Given the description of an element on the screen output the (x, y) to click on. 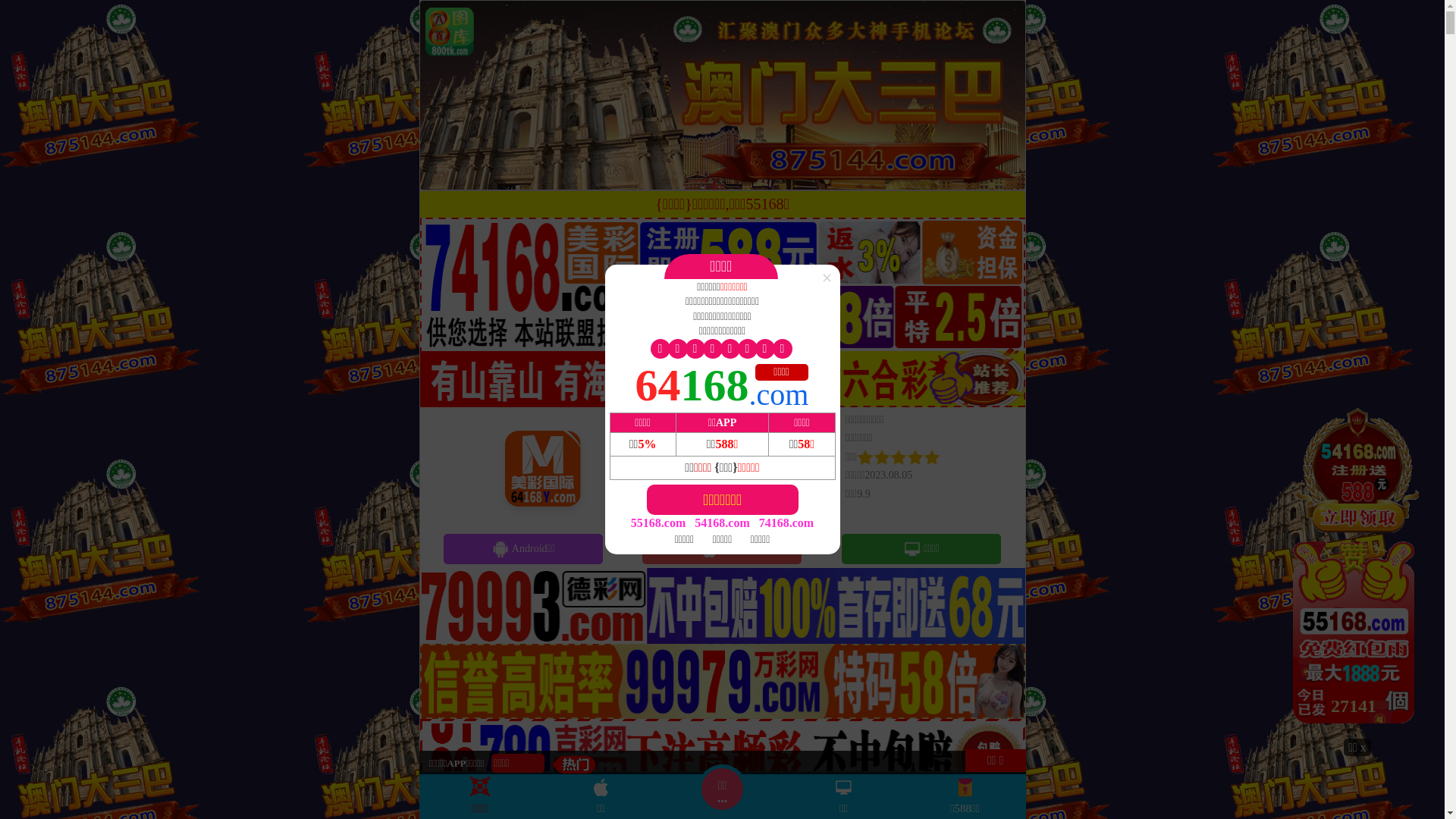
27292 Element type: text (1356, 570)
